Given the description of an element on the screen output the (x, y) to click on. 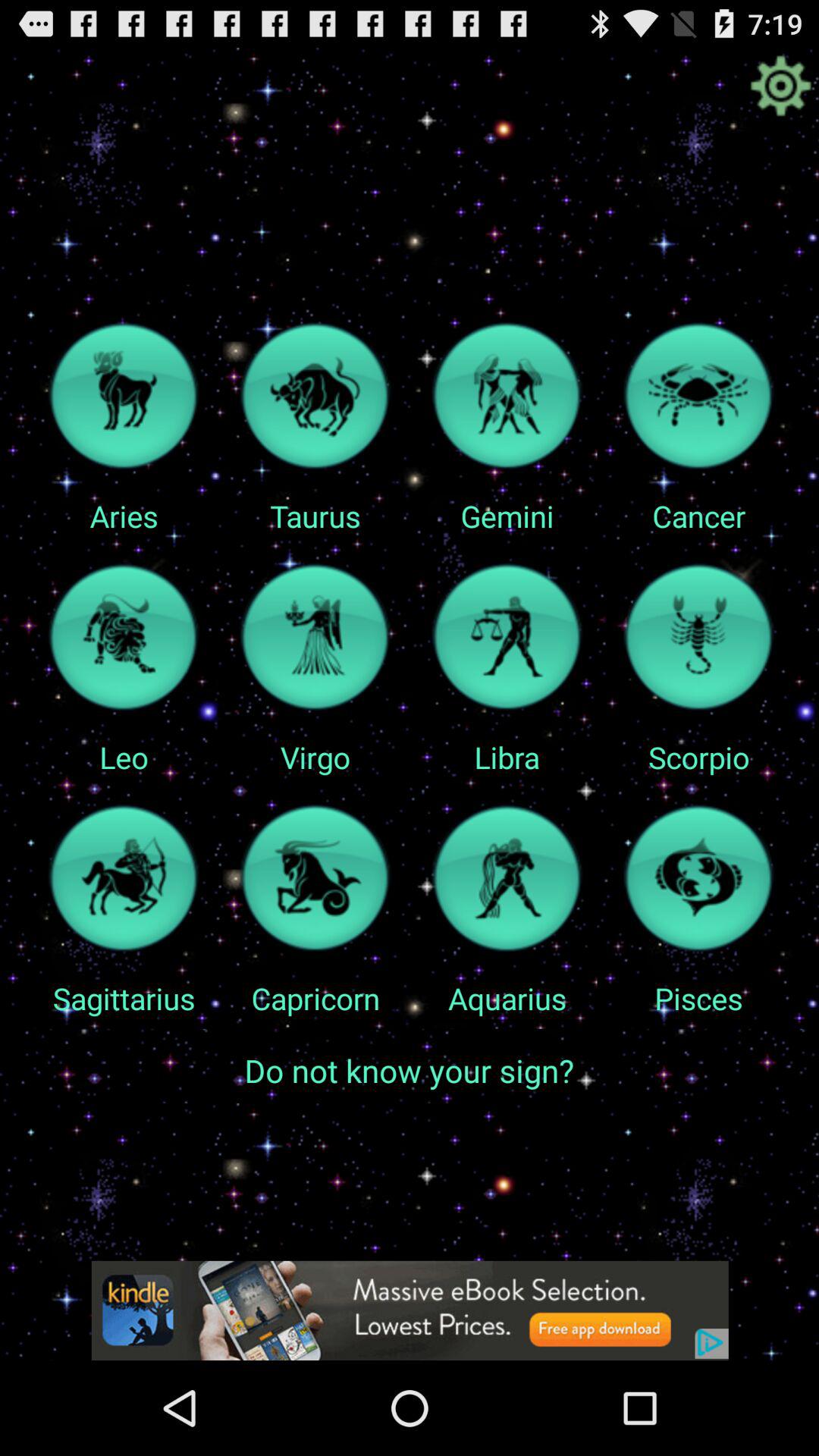
go to settings (780, 85)
